Given the description of an element on the screen output the (x, y) to click on. 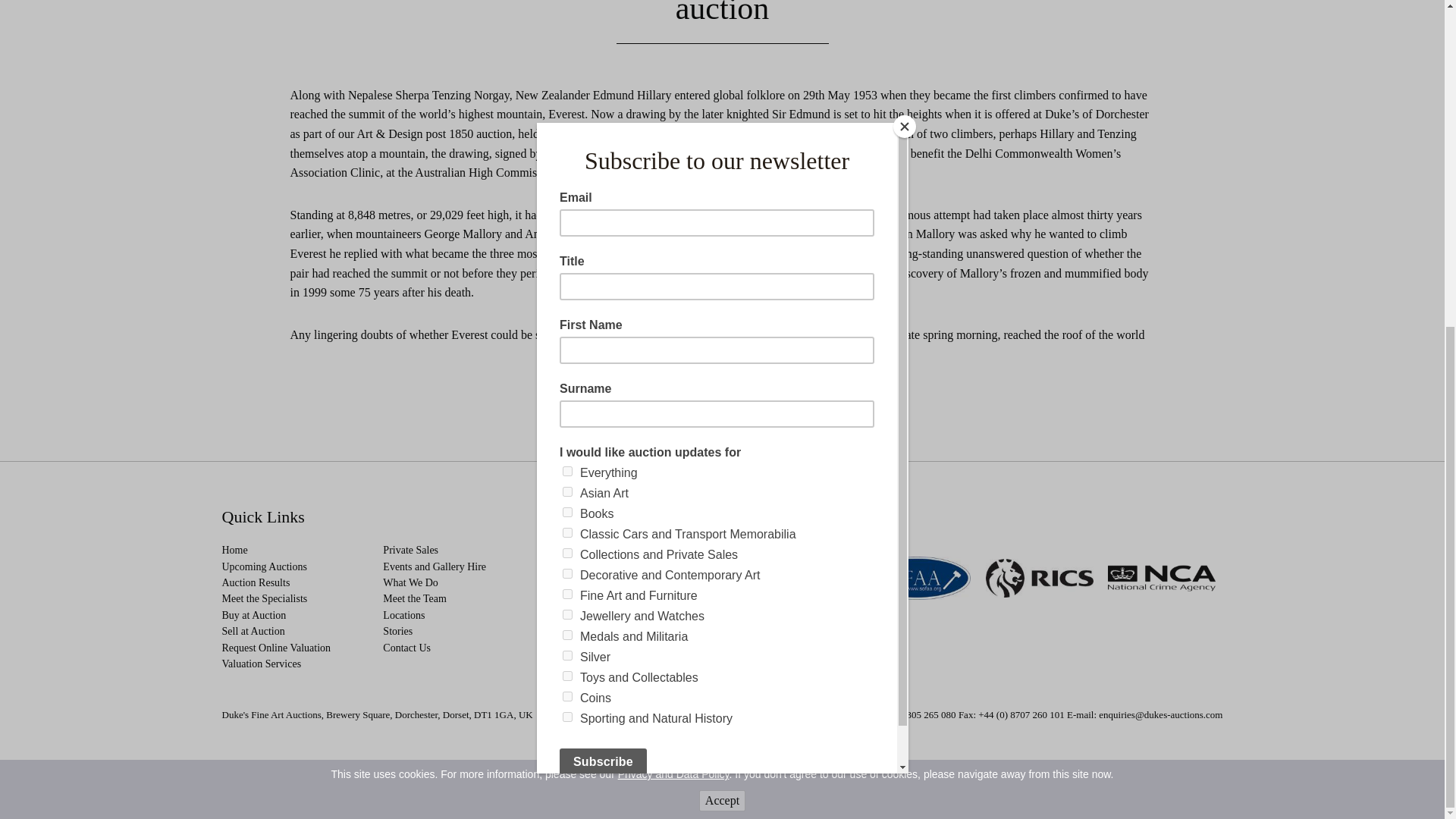
Accept (721, 262)
Accept (721, 262)
Privacy and Data Policy (673, 236)
